Given the description of an element on the screen output the (x, y) to click on. 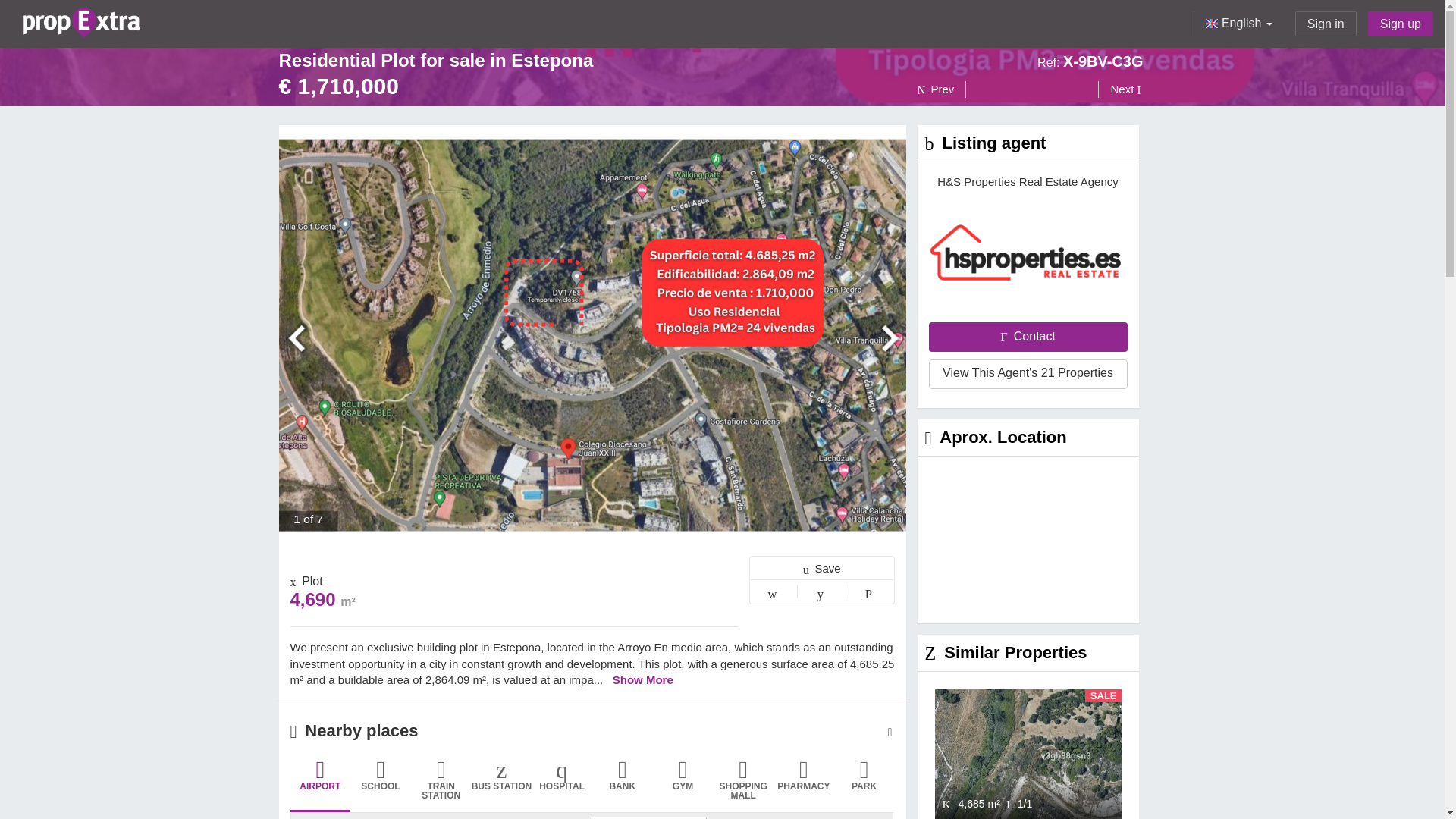
BUS STATION (501, 784)
Sign up (1400, 23)
Show More (642, 679)
PARK (864, 784)
SCHOOL (380, 784)
TRAIN STATION (440, 784)
Save (822, 567)
SHOPPING MALL (743, 784)
Next (1119, 89)
60 Mins (648, 817)
GYM (682, 784)
Prev (941, 89)
BANK (622, 784)
Sign in (1325, 23)
English (1237, 23)
